Given the description of an element on the screen output the (x, y) to click on. 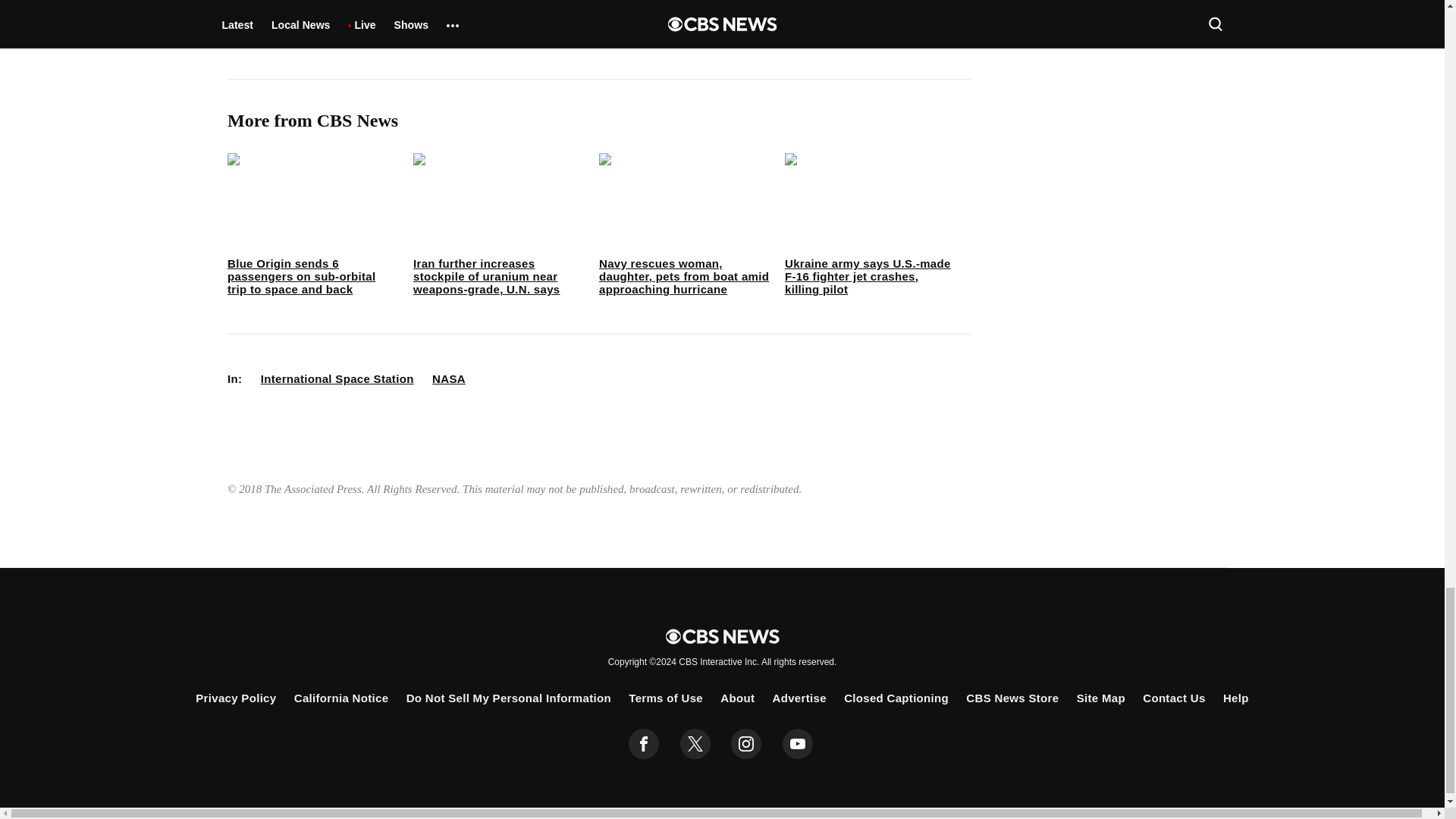
twitter (694, 743)
instagram (745, 743)
facebook (643, 743)
youtube (797, 743)
